Given the description of an element on the screen output the (x, y) to click on. 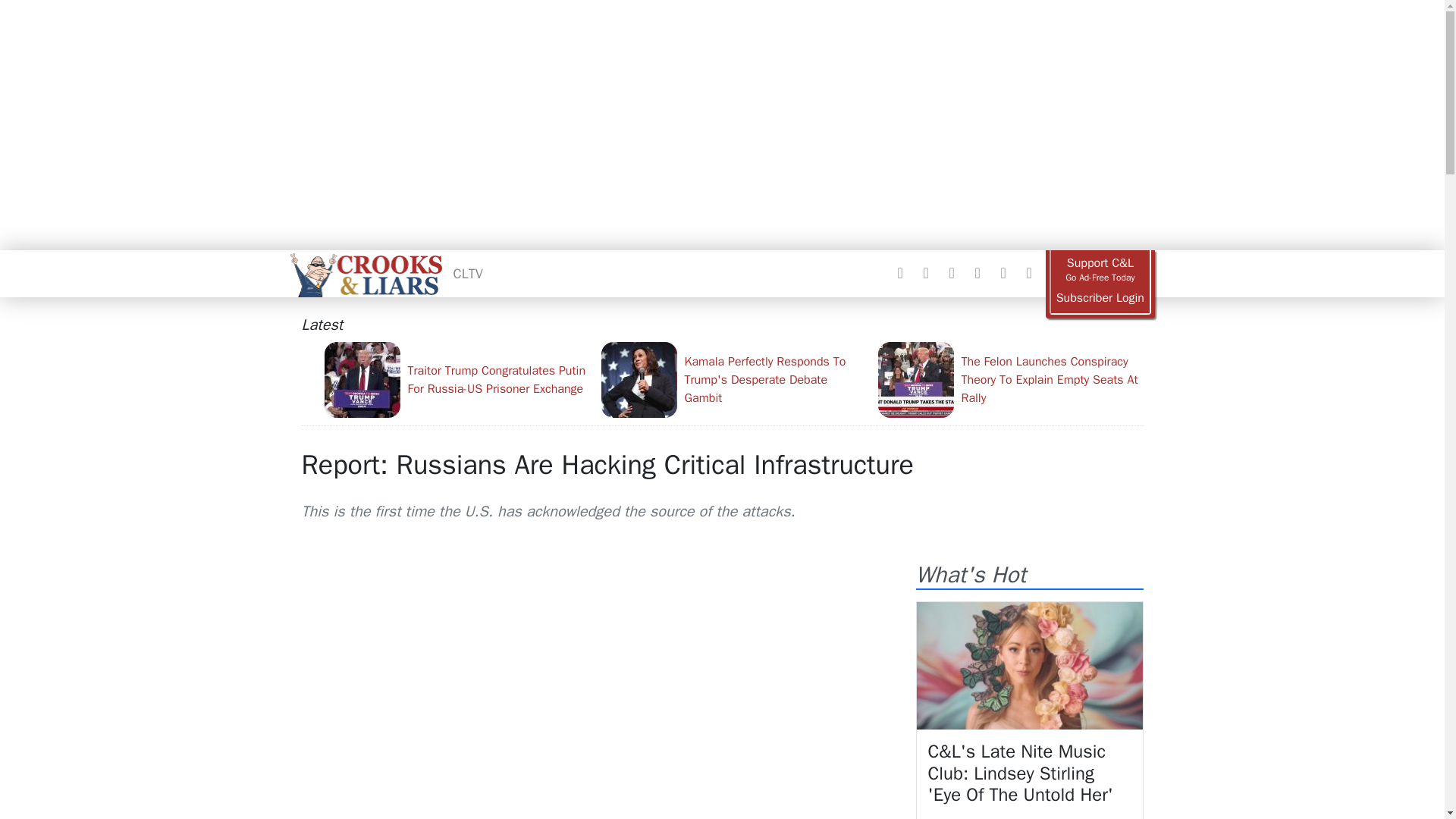
Kamala Perfectly Responds To Trump's Desperate Debate Gambit (732, 379)
Go ad free today! (1099, 270)
CLTV (467, 273)
Login to your ad free account (1099, 298)
Kamala Perfectly Responds To Trump's Desperate Debate Gambit (732, 379)
Subscriber Login (1099, 298)
Report: Russians Are Hacking Critical Infrastructure (607, 464)
